Given the description of an element on the screen output the (x, y) to click on. 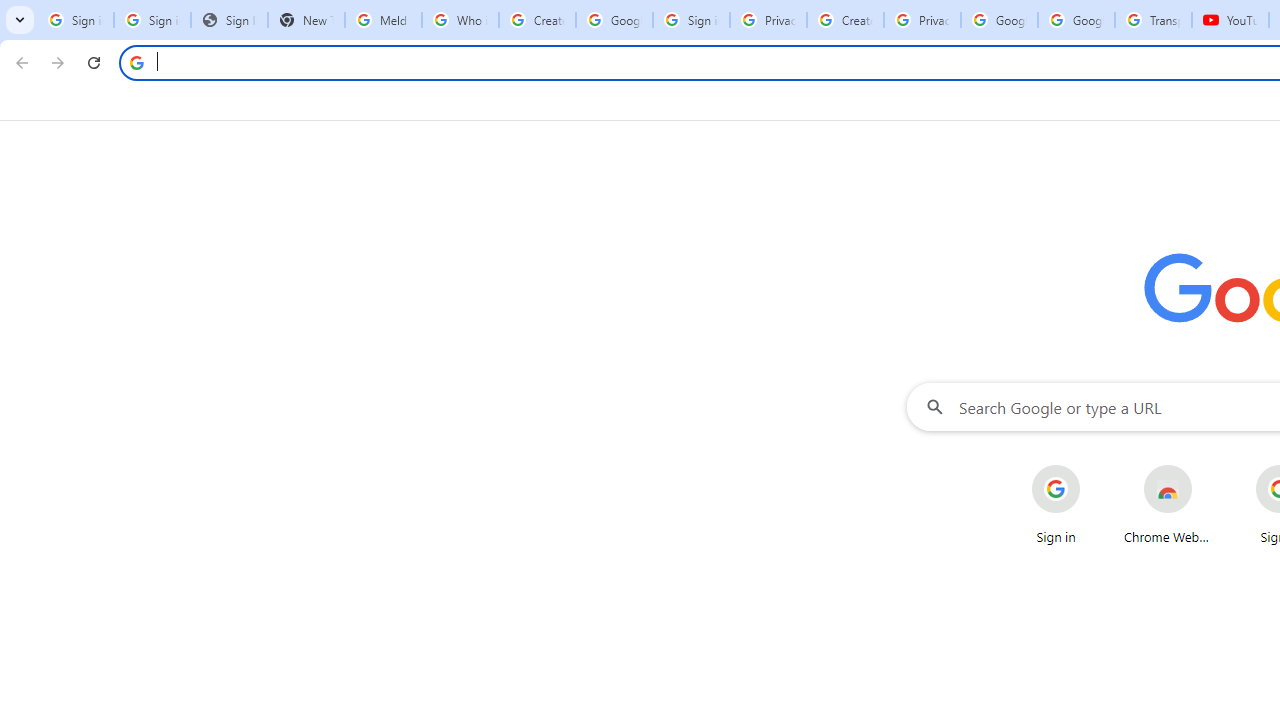
More actions for Chrome Web Store shortcut (1208, 466)
Sign in - Google Accounts (690, 20)
Create your Google Account (537, 20)
More actions for Sign in shortcut (1095, 466)
Who is my administrator? - Google Account Help (460, 20)
Sign in - Google Accounts (151, 20)
Sign In - USA TODAY (228, 20)
